Given the description of an element on the screen output the (x, y) to click on. 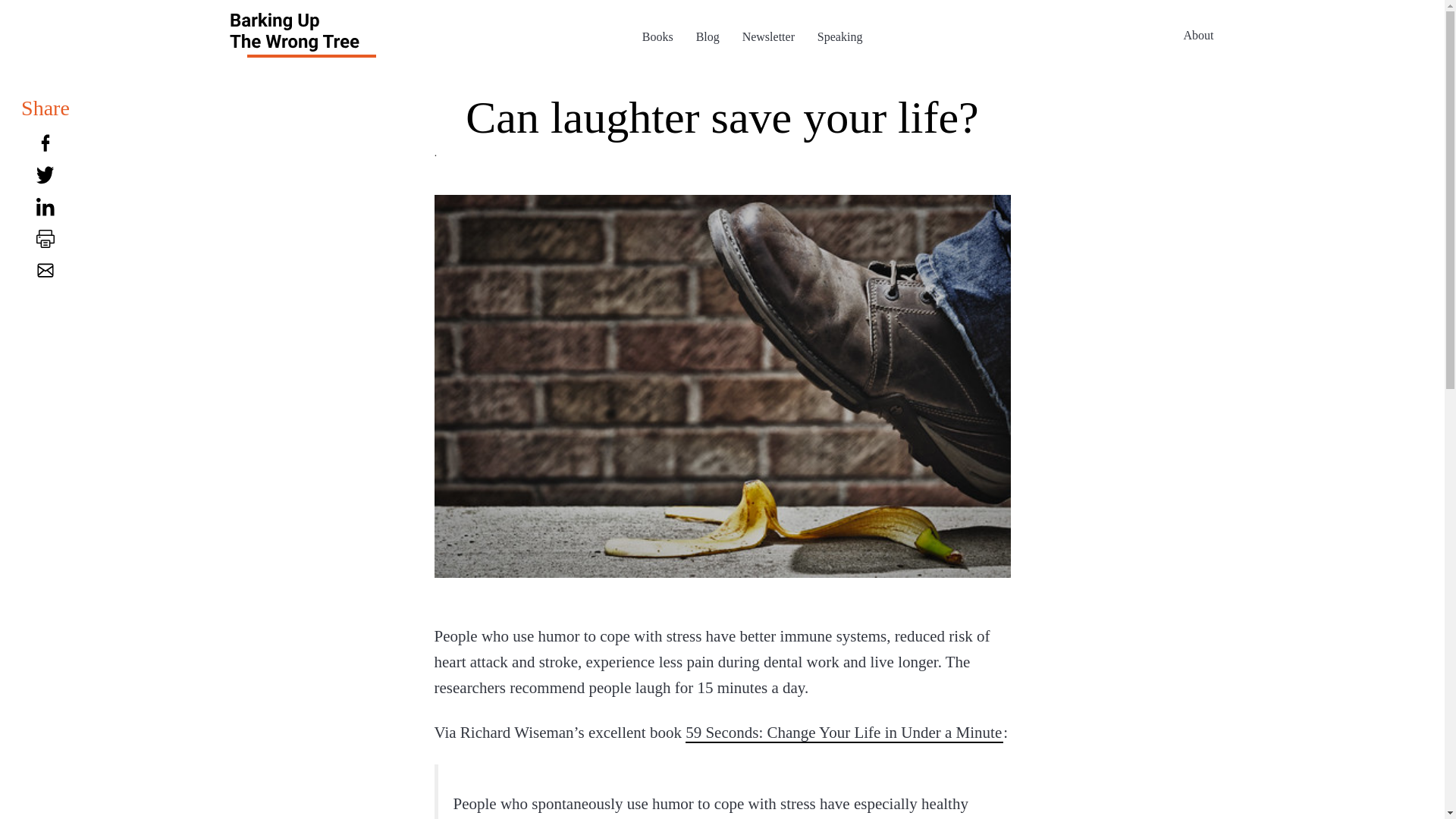
Blog (707, 36)
Books (657, 36)
Speaking (839, 36)
About (1198, 34)
Newsletter (768, 36)
59 Seconds: Change Your Life in Under a Minute (844, 731)
